Given the description of an element on the screen output the (x, y) to click on. 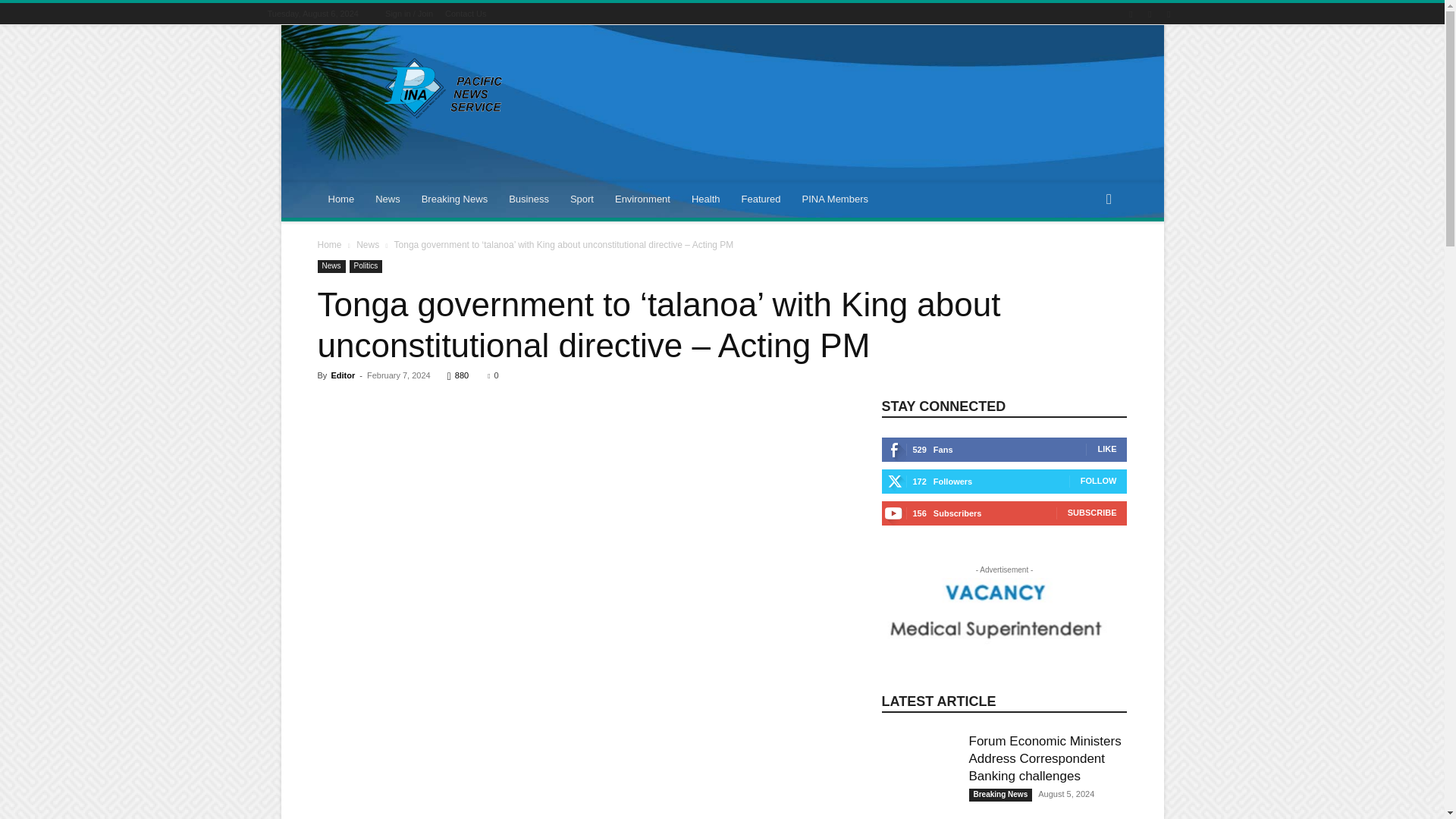
Home (341, 198)
Contact Us (465, 13)
Pacific Islands News Association (445, 88)
News (387, 198)
